Given the description of an element on the screen output the (x, y) to click on. 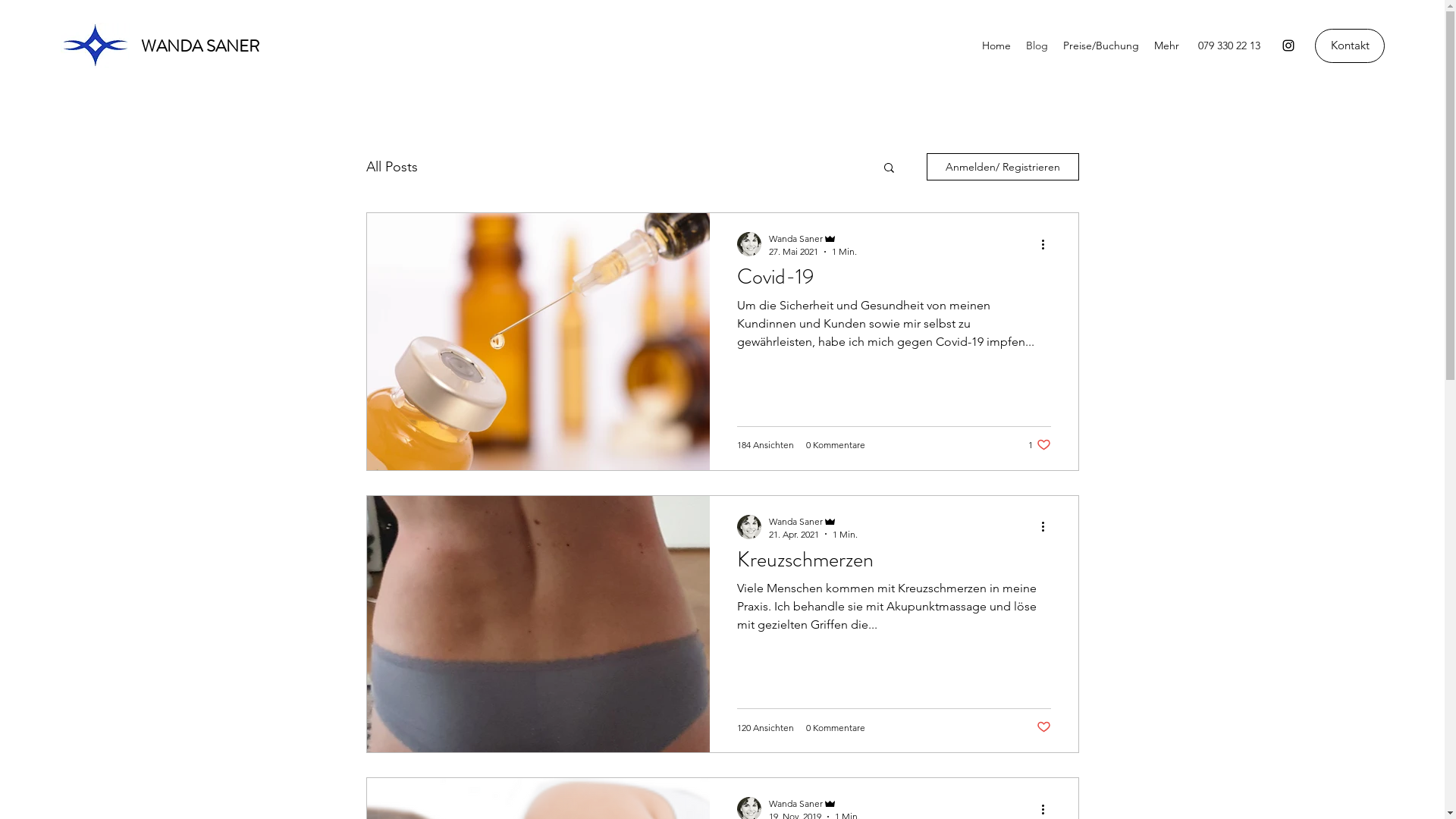
Home Element type: text (996, 45)
Blog Element type: text (1036, 45)
Kreuzschmerzen Element type: text (894, 564)
Covid-19 Element type: text (894, 281)
Preise/Buchung Element type: text (1100, 45)
All Posts Element type: text (391, 166)
0 Kommentare Element type: text (834, 727)
Anmelden/ Registrieren Element type: text (1002, 166)
Kontakt Element type: text (1349, 45)
WANDA SANER Element type: text (200, 45)
0 Kommentare Element type: text (834, 444)
